Given the description of an element on the screen output the (x, y) to click on. 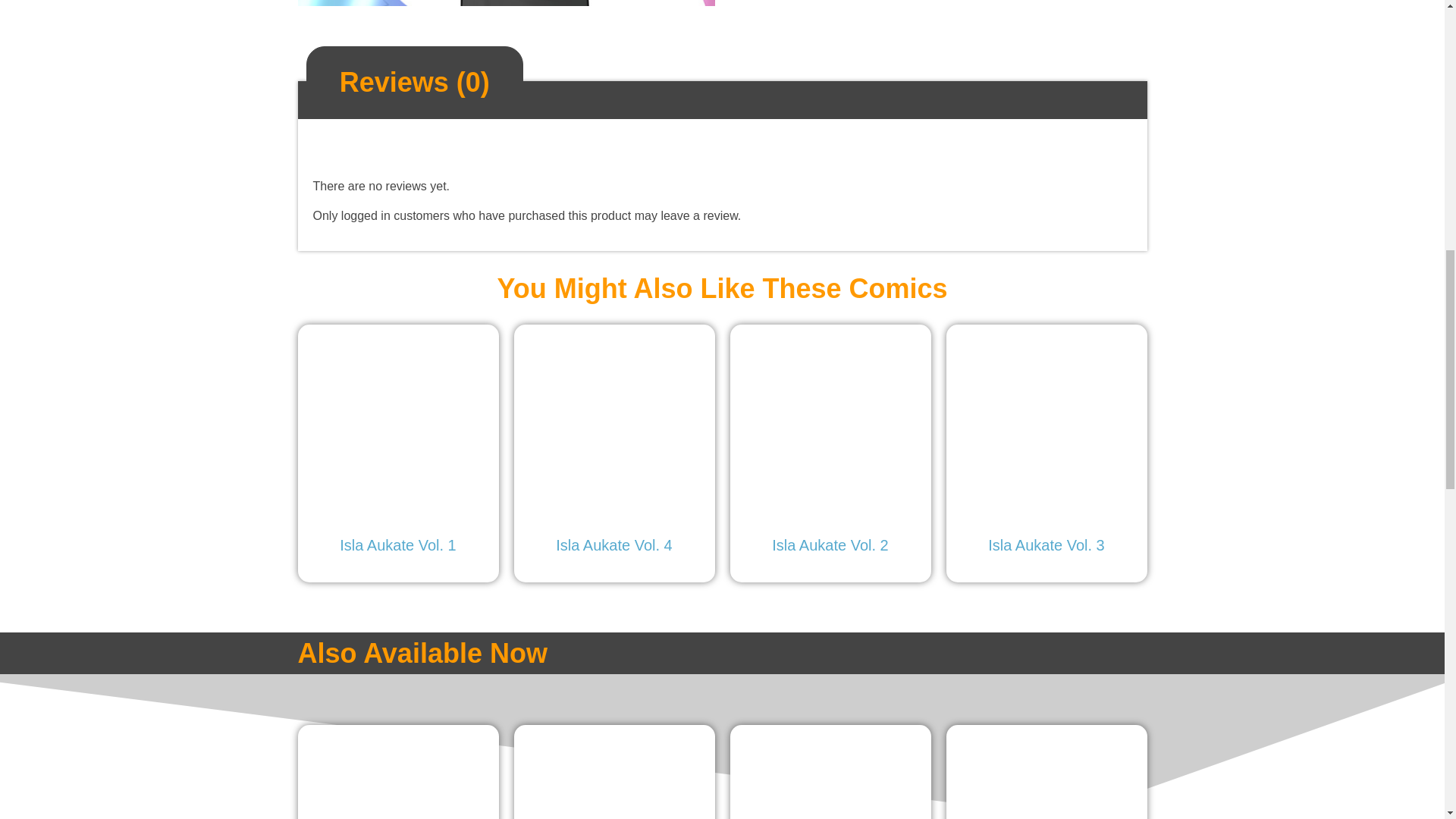
Odyssey (1046, 776)
Isla Aukate Vol. 4 (614, 447)
Isla Aukate Vol. 3 (1046, 447)
Isla Aukate Vol. 2 (829, 447)
Isla Aukate Vol. 1 (397, 447)
